Given the description of an element on the screen output the (x, y) to click on. 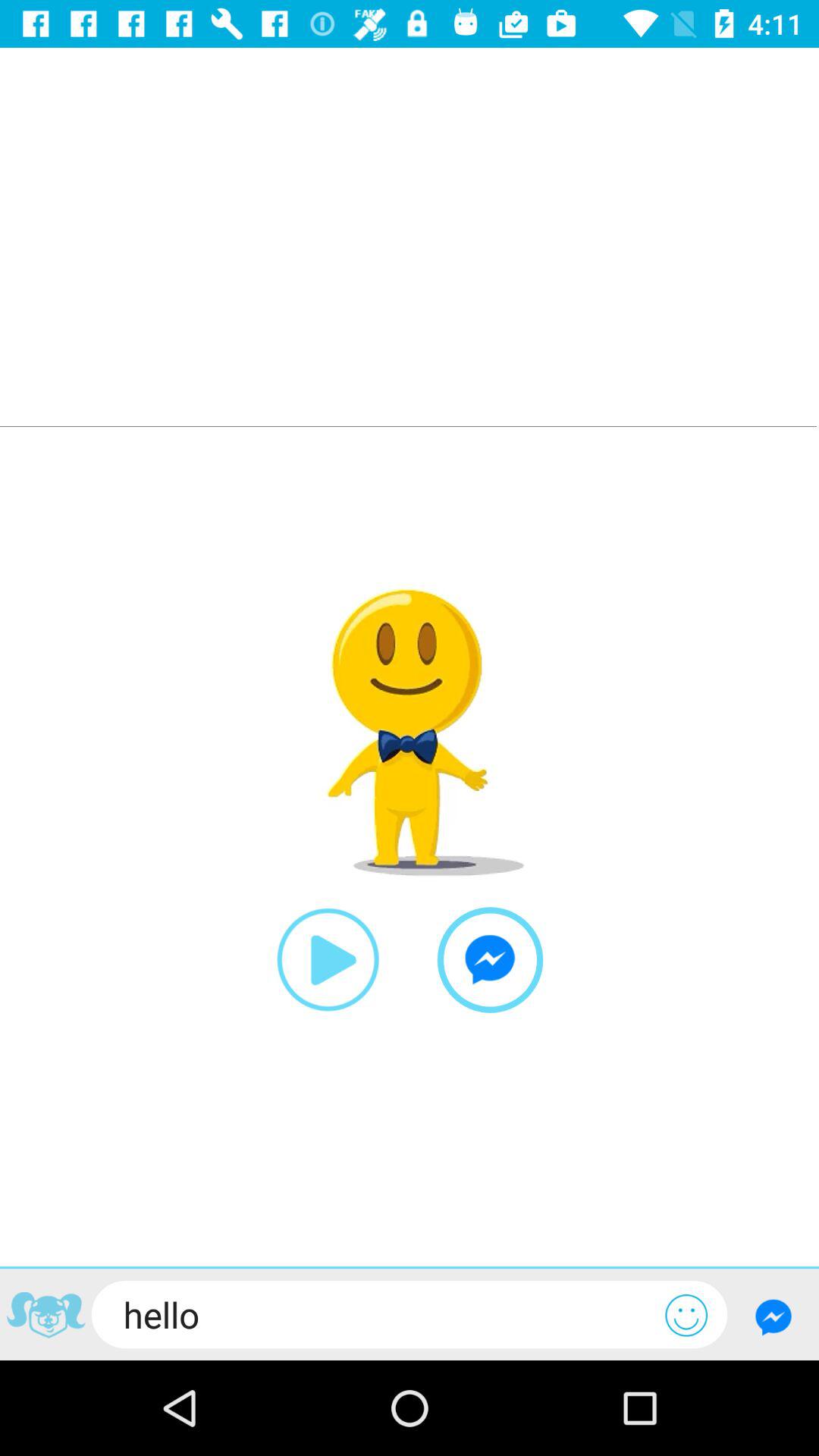
instant message (490, 959)
